Given the description of an element on the screen output the (x, y) to click on. 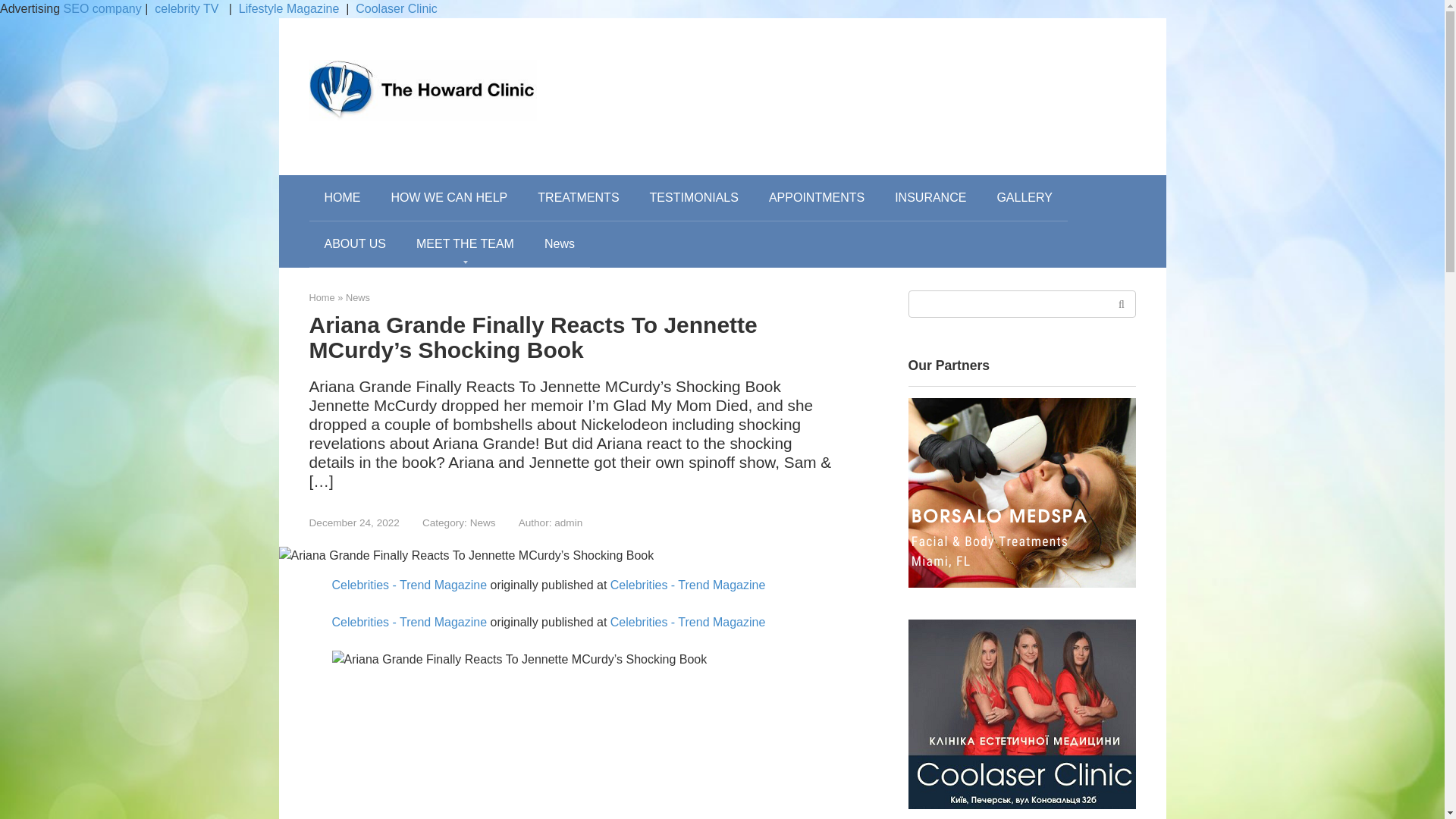
SEO company (102, 8)
TREATMENTS (577, 197)
Aesthetic Medicine Clinic Kiev (1021, 714)
HOW WE CAN HELP (448, 197)
Coolaser Clinic (396, 8)
TESTIMONIALS (694, 197)
MEET THE TEAM (465, 243)
Esthetician in Miami (1021, 493)
Lifestyle Magazine (288, 8)
INSURANCE (930, 197)
